Given the description of an element on the screen output the (x, y) to click on. 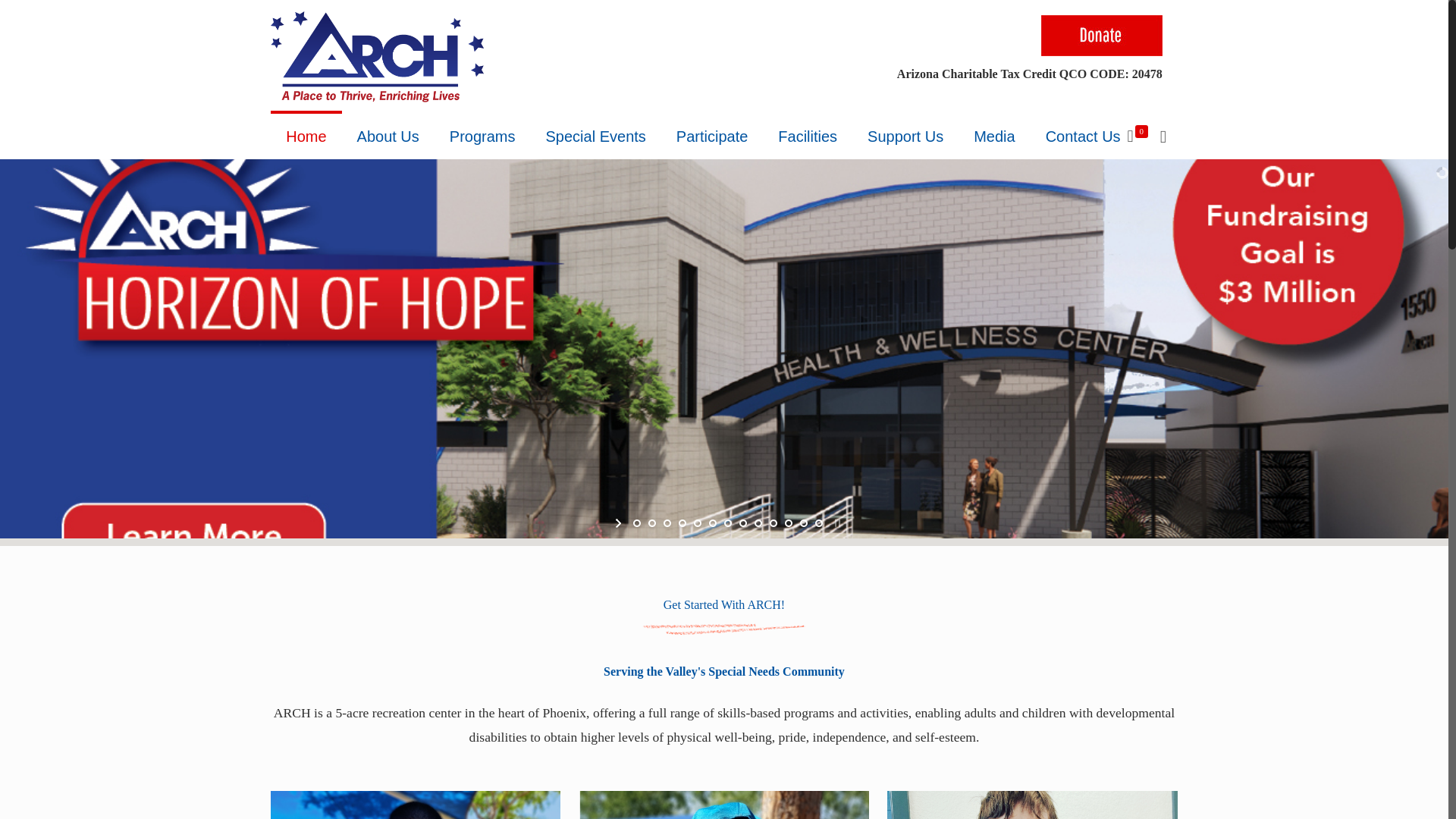
Support Us (904, 135)
Participate (711, 135)
Arizona Recreation Center for the Handicapped (376, 56)
Special Events (596, 135)
Programs (482, 135)
Facilities (806, 135)
About Us (387, 135)
Home (305, 135)
